Given the description of an element on the screen output the (x, y) to click on. 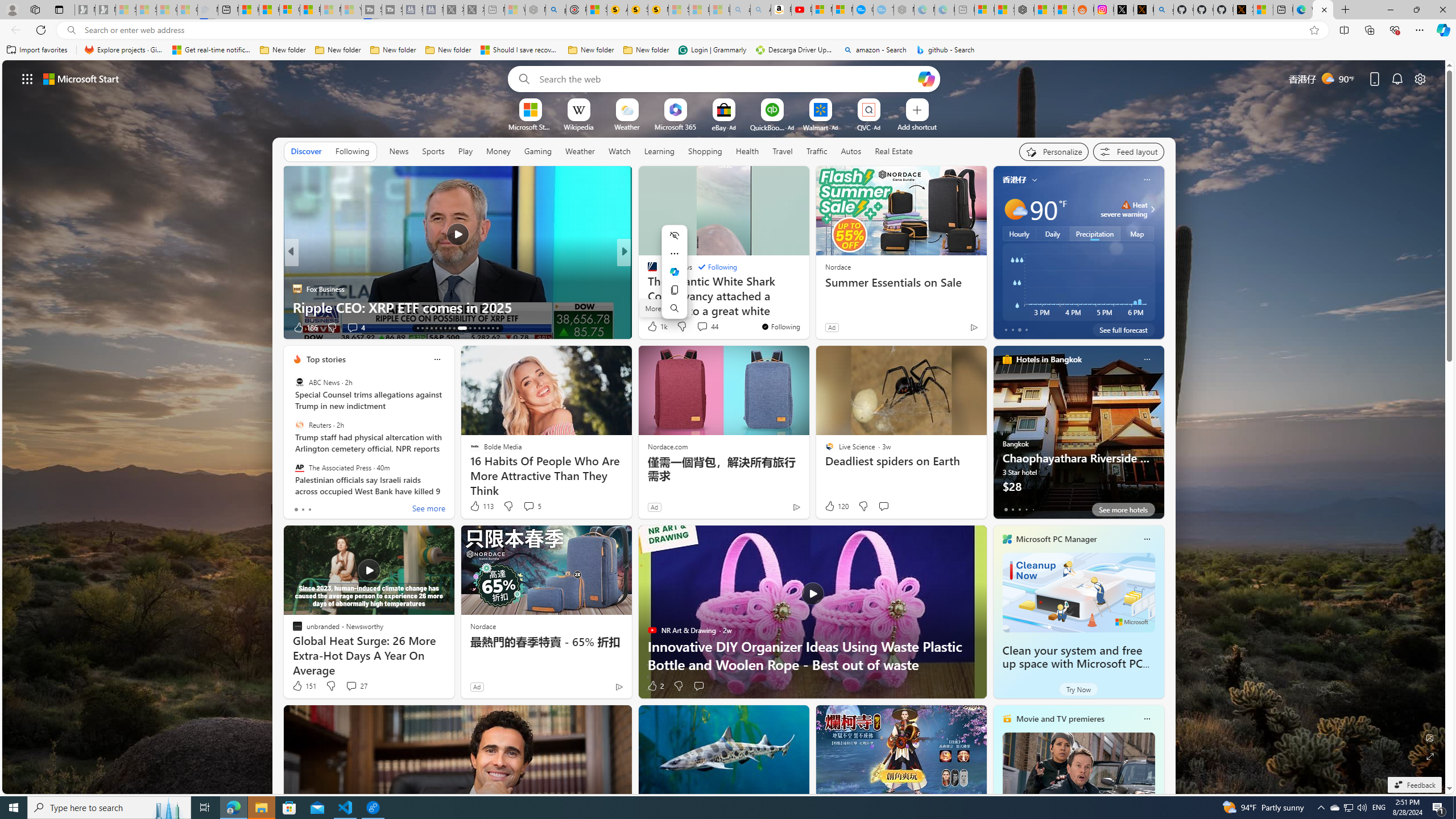
You're following The Weather Channel (949, 329)
Search (674, 307)
120 Like (835, 505)
Back (13, 29)
Notifications (1397, 78)
Travel (782, 151)
Copy (674, 289)
Discover (306, 151)
Restore (1416, 9)
More actions (674, 253)
3 PM 4 PM 5 PM 6 PM (1077, 282)
